Given the description of an element on the screen output the (x, y) to click on. 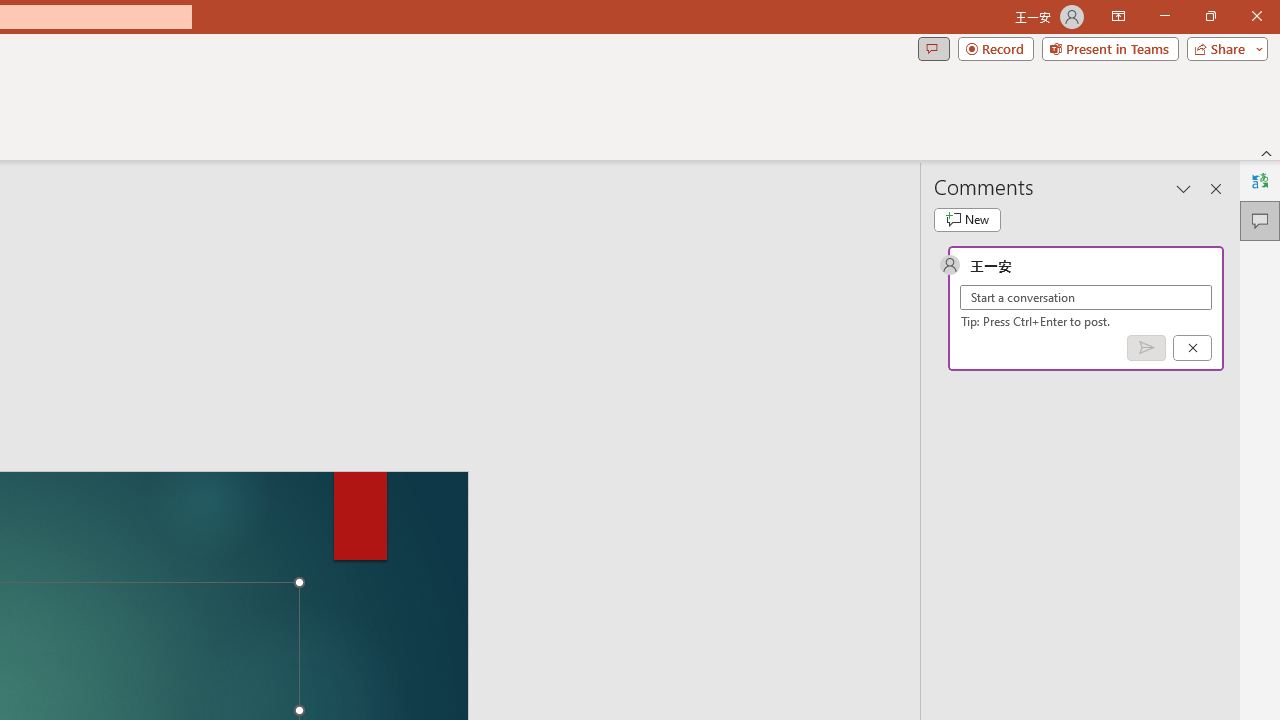
Post comment (Ctrl + Enter) (1146, 347)
New comment (967, 219)
